Given the description of an element on the screen output the (x, y) to click on. 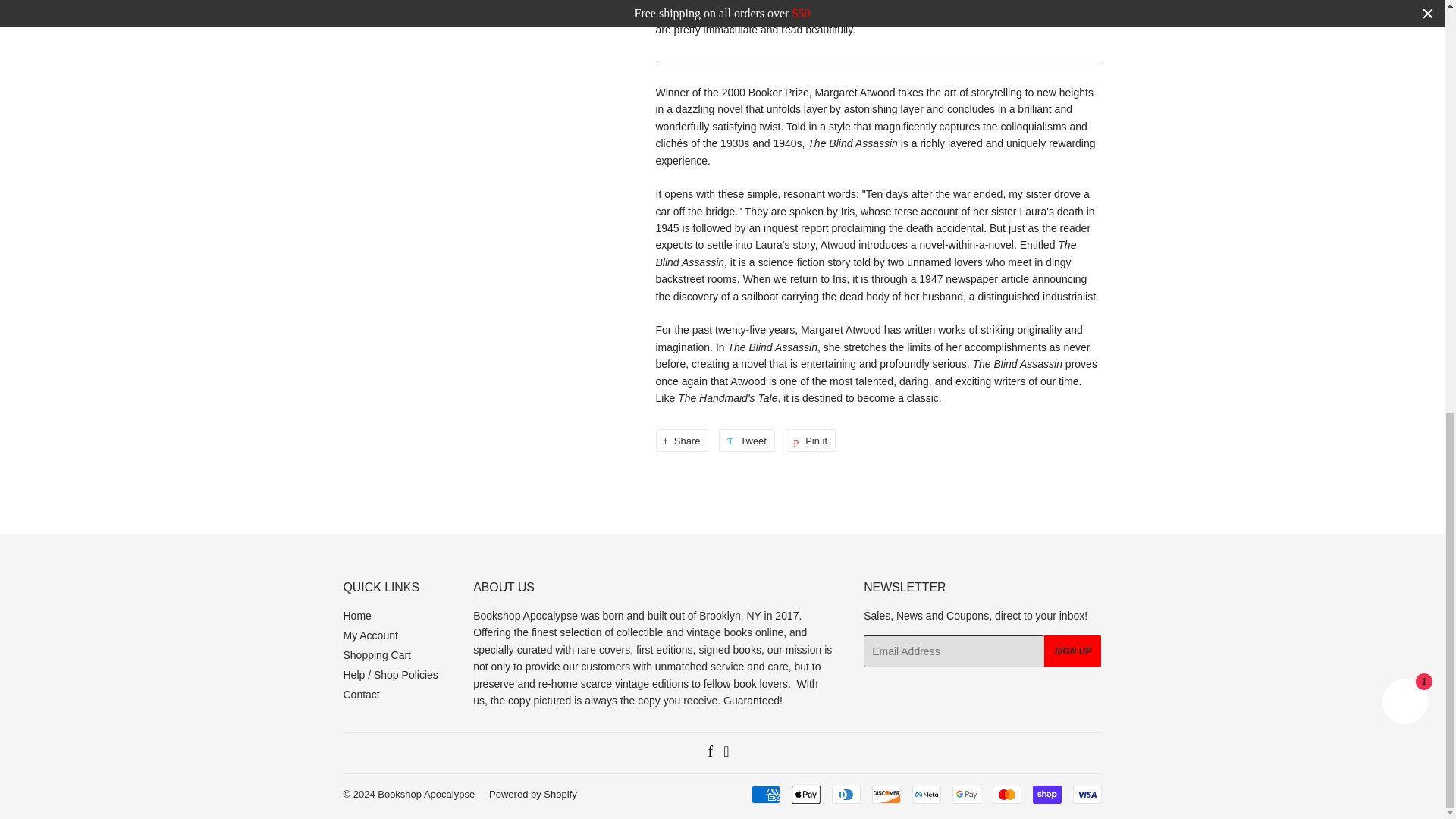
American Express (764, 794)
Discover (886, 794)
Share on Facebook (681, 440)
Mastercard (1005, 794)
Tweet on Twitter (746, 440)
Apple Pay (806, 794)
Visa (1085, 794)
Google Pay (966, 794)
Shop Pay (1046, 794)
Meta Pay (925, 794)
Diners Club (845, 794)
Pin on Pinterest (810, 440)
